Given the description of an element on the screen output the (x, y) to click on. 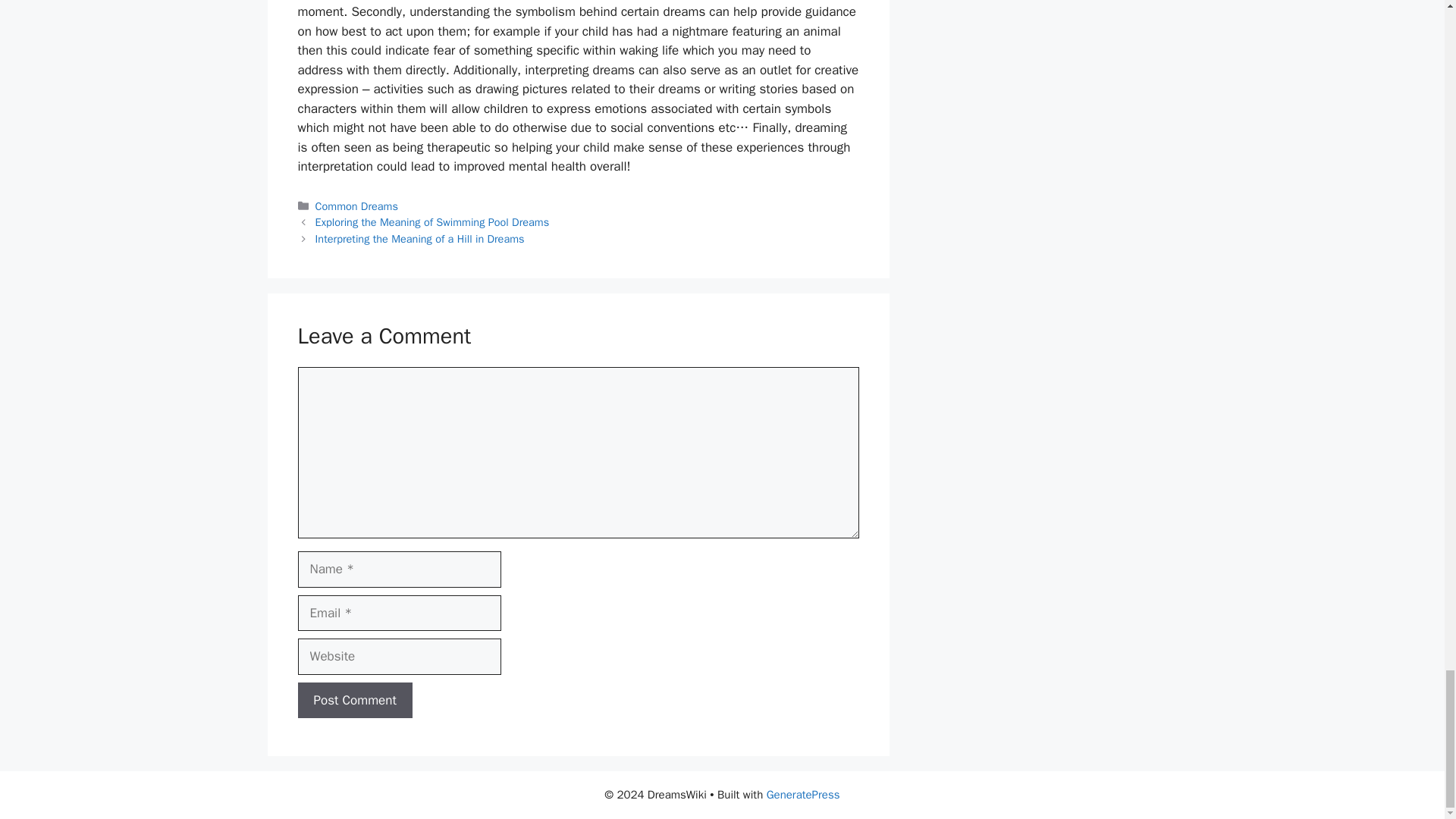
Post Comment (354, 700)
GeneratePress (803, 794)
Interpreting the Meaning of a Hill in Dreams (419, 238)
Post Comment (354, 700)
Common Dreams (356, 205)
Exploring the Meaning of Swimming Pool Dreams (432, 222)
